Given the description of an element on the screen output the (x, y) to click on. 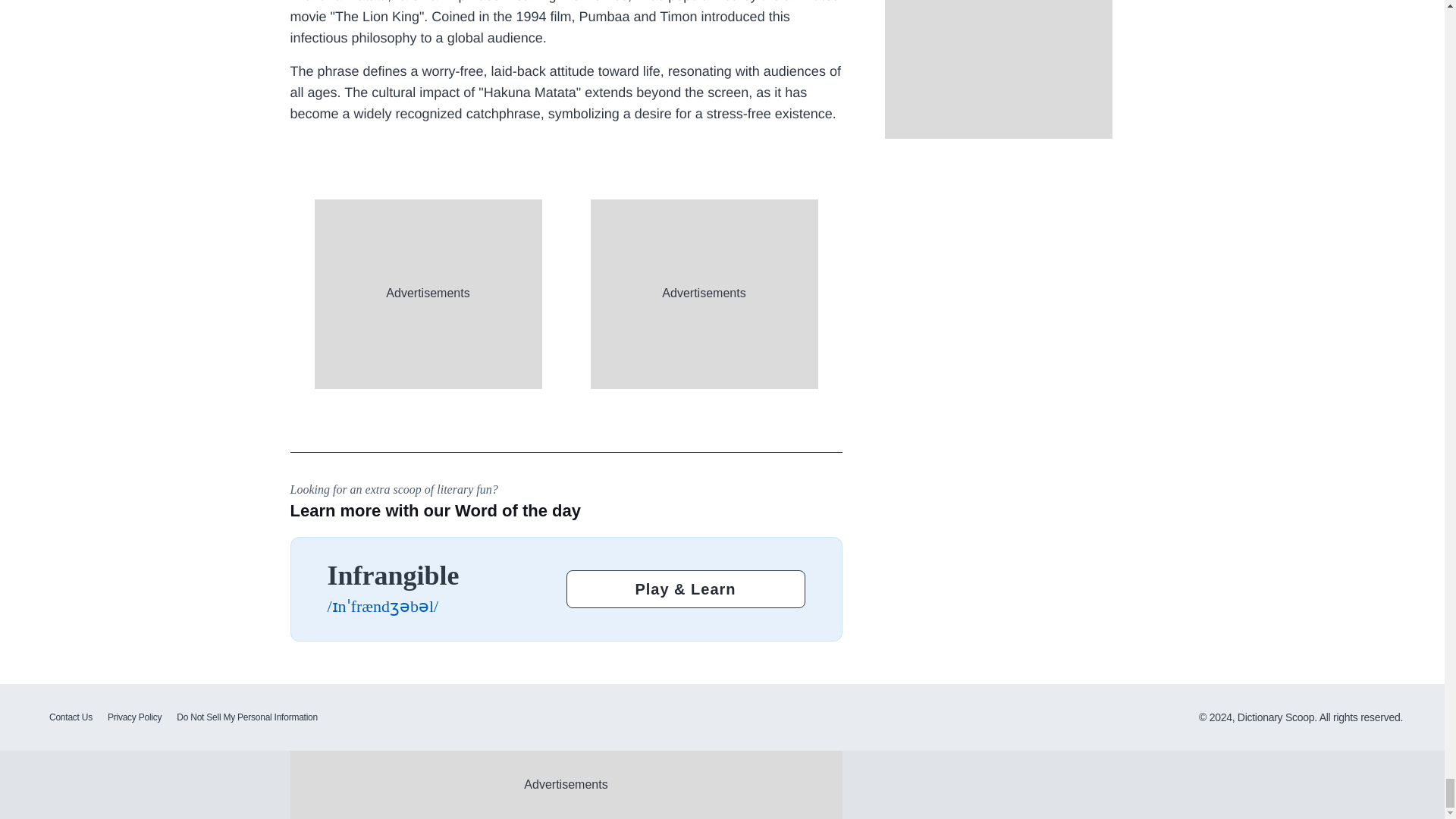
Contact Us (71, 717)
Do Not Sell My Personal Information (246, 717)
Privacy Policy (134, 717)
